Given the description of an element on the screen output the (x, y) to click on. 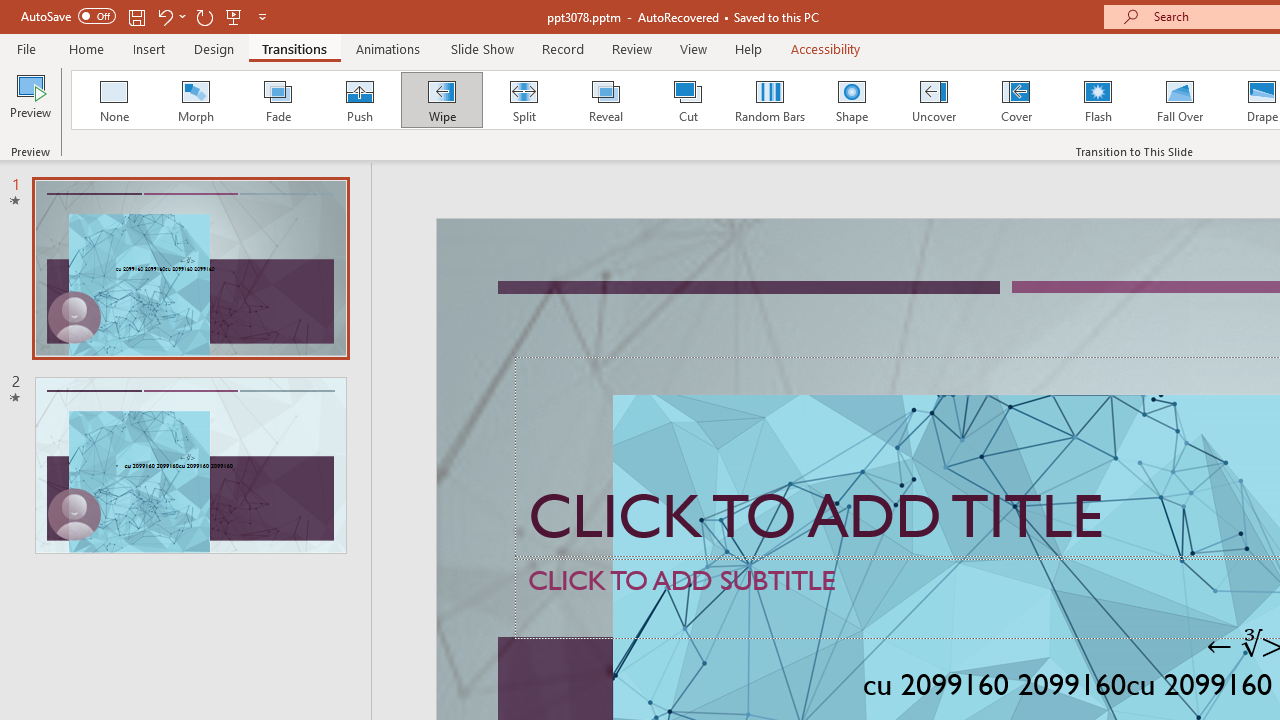
None (113, 100)
Fall Over (1180, 100)
Cover (1016, 100)
Uncover (934, 100)
Shape (852, 100)
Wipe (441, 100)
Slide (190, 465)
